Given the description of an element on the screen output the (x, y) to click on. 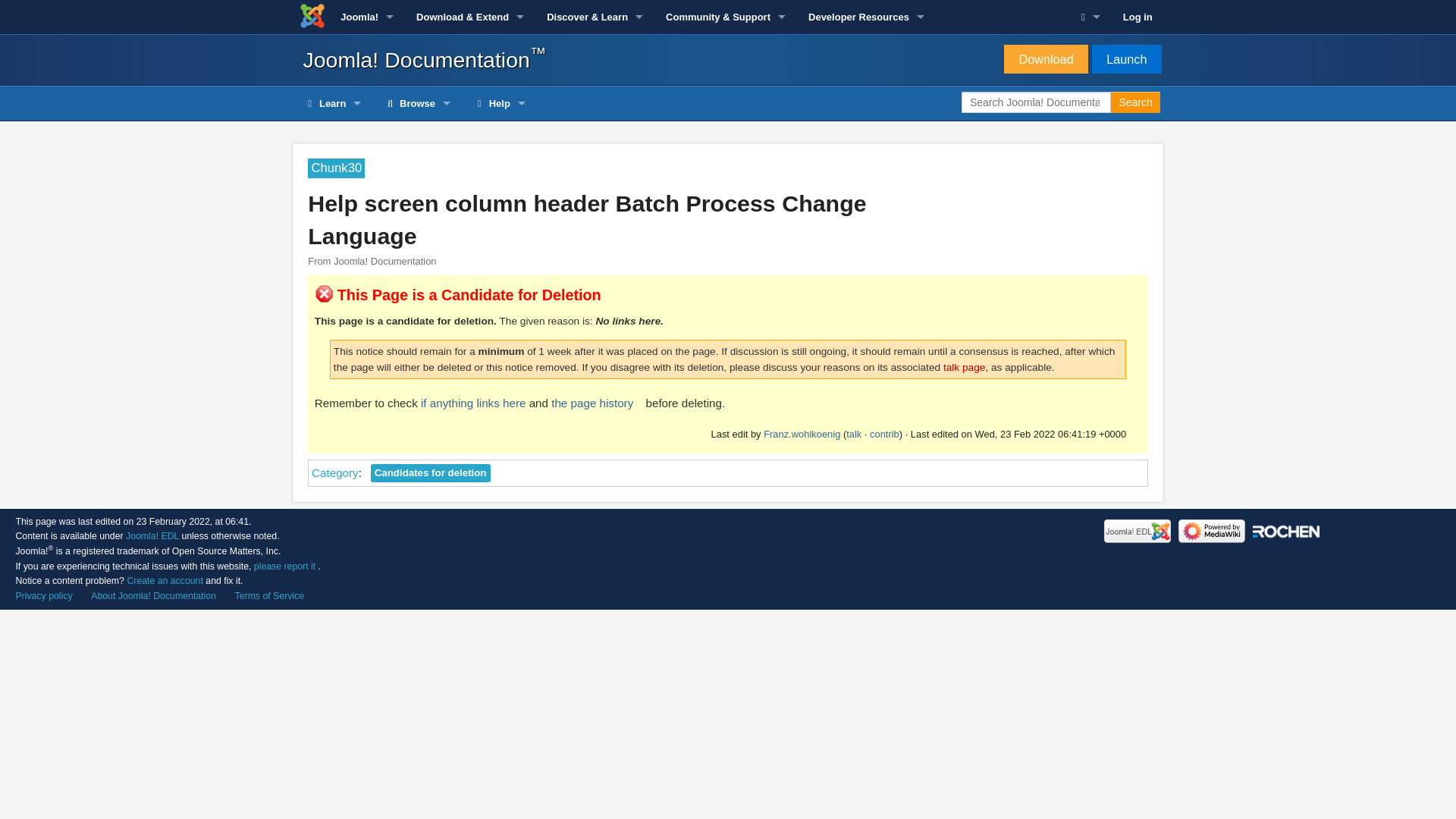
User:Franz.wohlkoenig (801, 433)
Developer Resources (866, 17)
User talk:Franz.wohlkoenig (853, 433)
JEDL (152, 535)
JDOC:Privacy policy (42, 595)
Joomla! (366, 17)
Special:Categories (334, 472)
JDOC:About (152, 595)
Category:Candidates for deletion (430, 472)
